Given the description of an element on the screen output the (x, y) to click on. 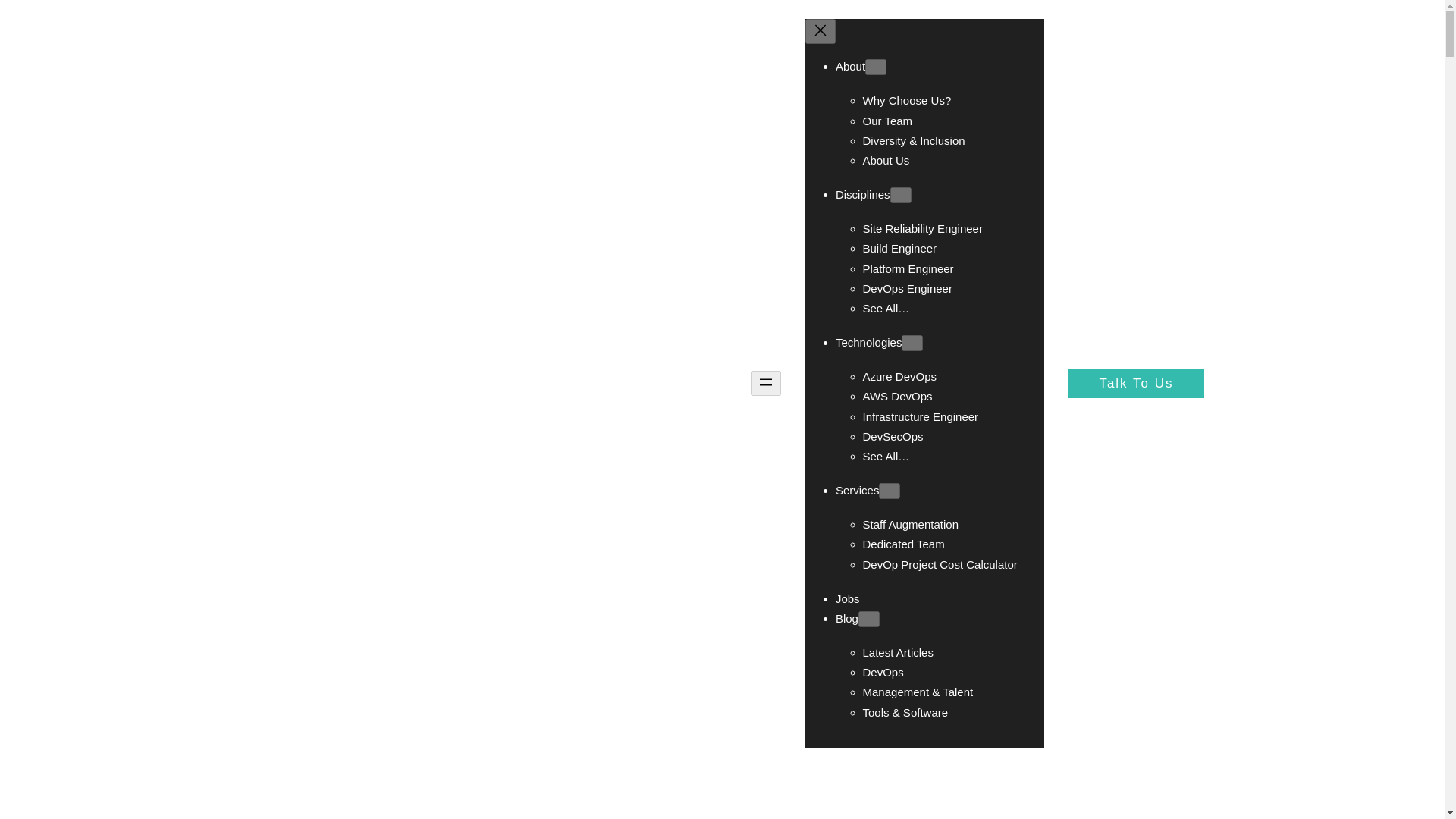
Infrastructure Engineer (920, 415)
Build Engineer (900, 247)
DevOp Project Cost Calculator (940, 563)
Site Reliability Engineer (922, 228)
Platform Engineer (908, 268)
Dedicated Team (903, 543)
Disciplines (862, 194)
Blog (847, 617)
About (849, 65)
Why Choose Us? (907, 100)
